Given the description of an element on the screen output the (x, y) to click on. 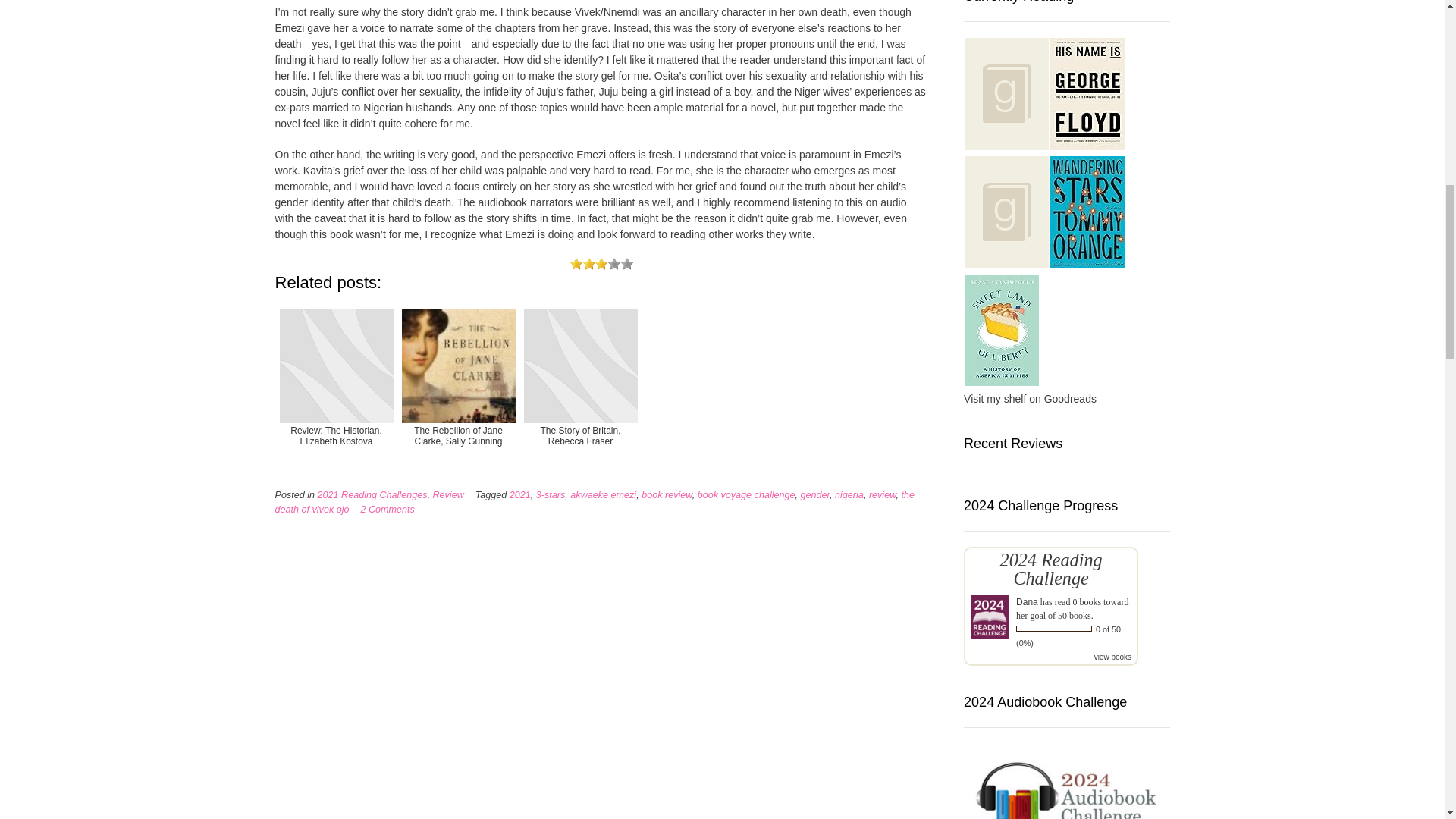
2021 (520, 494)
3-stars (550, 494)
gender (814, 494)
book voyage challenge (745, 494)
Review (447, 494)
2021 Reading Challenges (372, 494)
akwaeke emezi (603, 494)
book review (667, 494)
nigeria (848, 494)
review (882, 494)
